Given the description of an element on the screen output the (x, y) to click on. 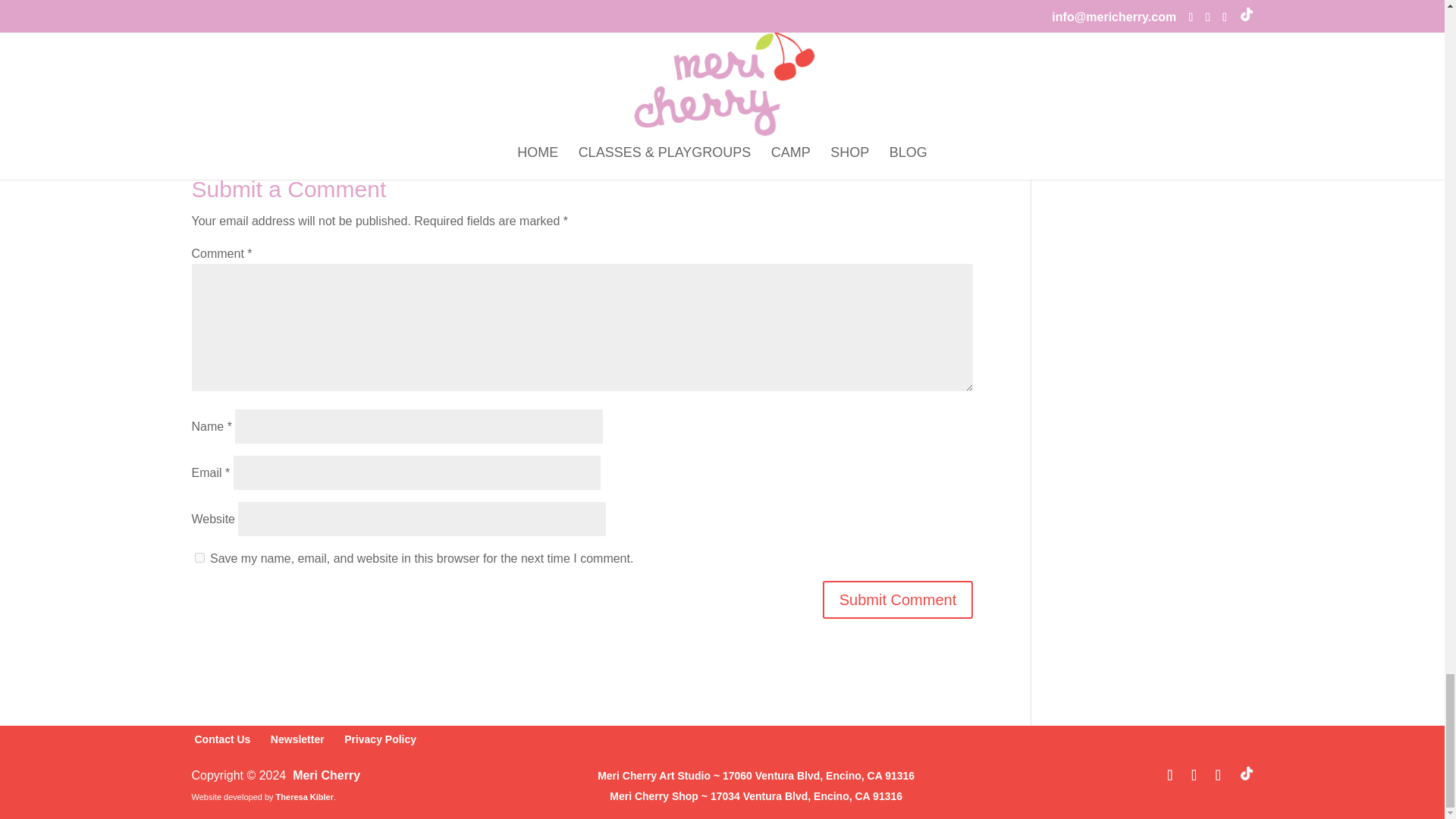
yes (198, 557)
Submit Comment (898, 599)
Submit Comment (898, 599)
